Given the description of an element on the screen output the (x, y) to click on. 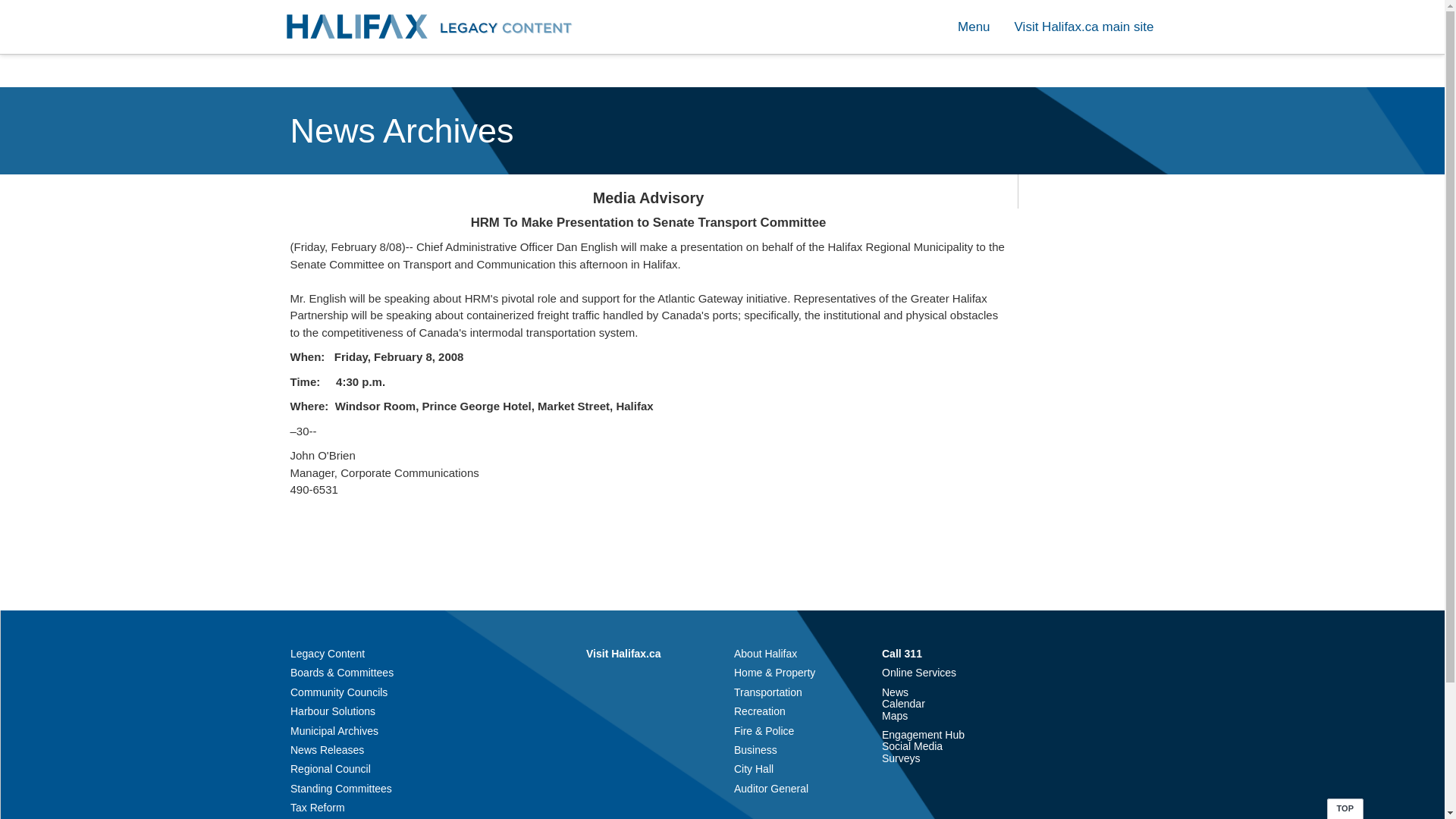
Transportation (767, 692)
About Halifax (764, 653)
Standing Committees (340, 788)
Legacy Content (327, 653)
Tax Reform (317, 807)
News (895, 692)
Calendar (903, 703)
Community Councils (338, 692)
Recreation (759, 711)
News Releases (326, 749)
